Given the description of an element on the screen output the (x, y) to click on. 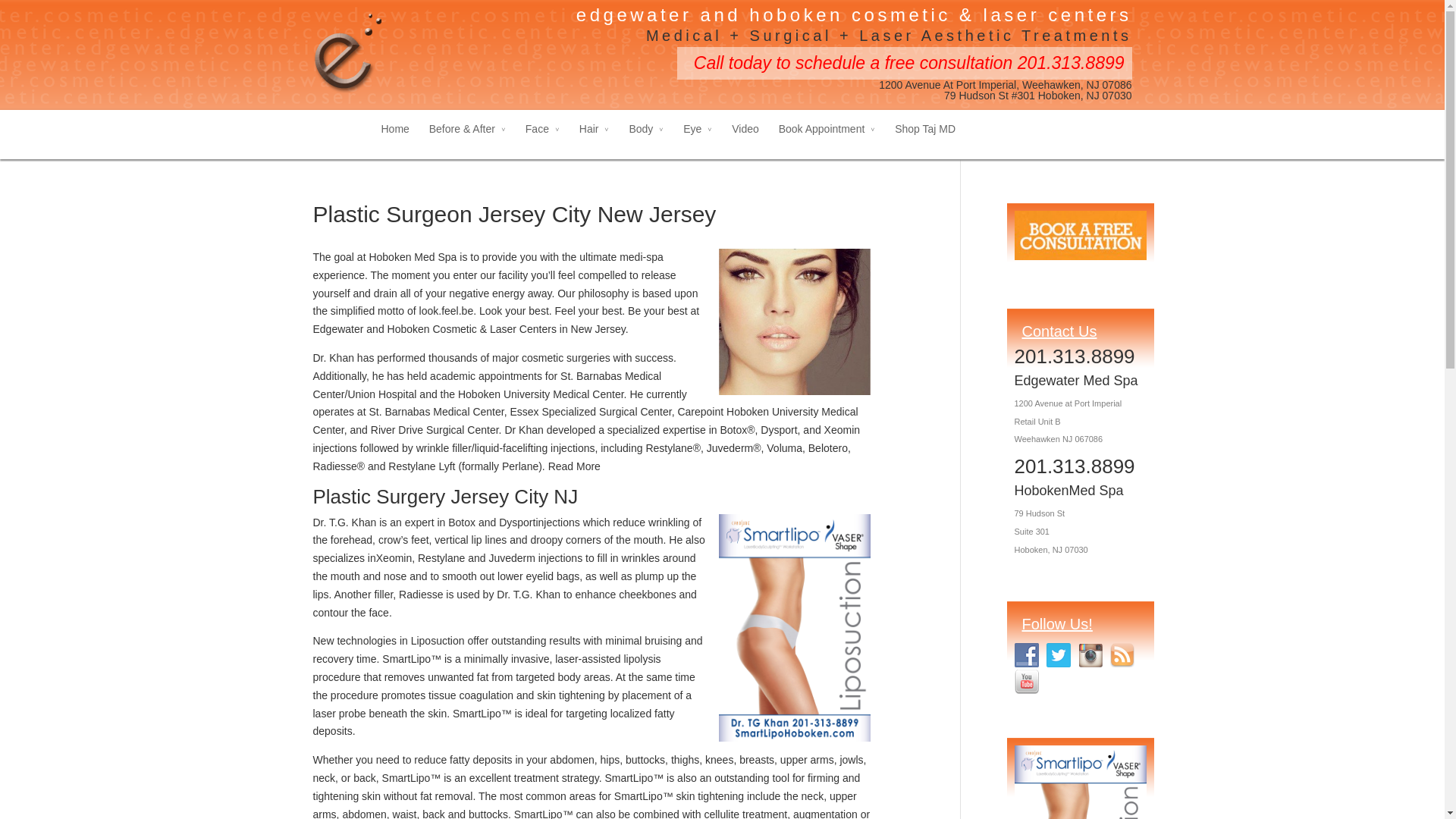
Follow Us on Instagram (1090, 654)
Follow Us on RSS (1121, 654)
Follow Us on YouTube (1026, 681)
Follow Us on Facebook (1026, 654)
Follow Us on Twitter (1058, 654)
Face (542, 140)
